Given the description of an element on the screen output the (x, y) to click on. 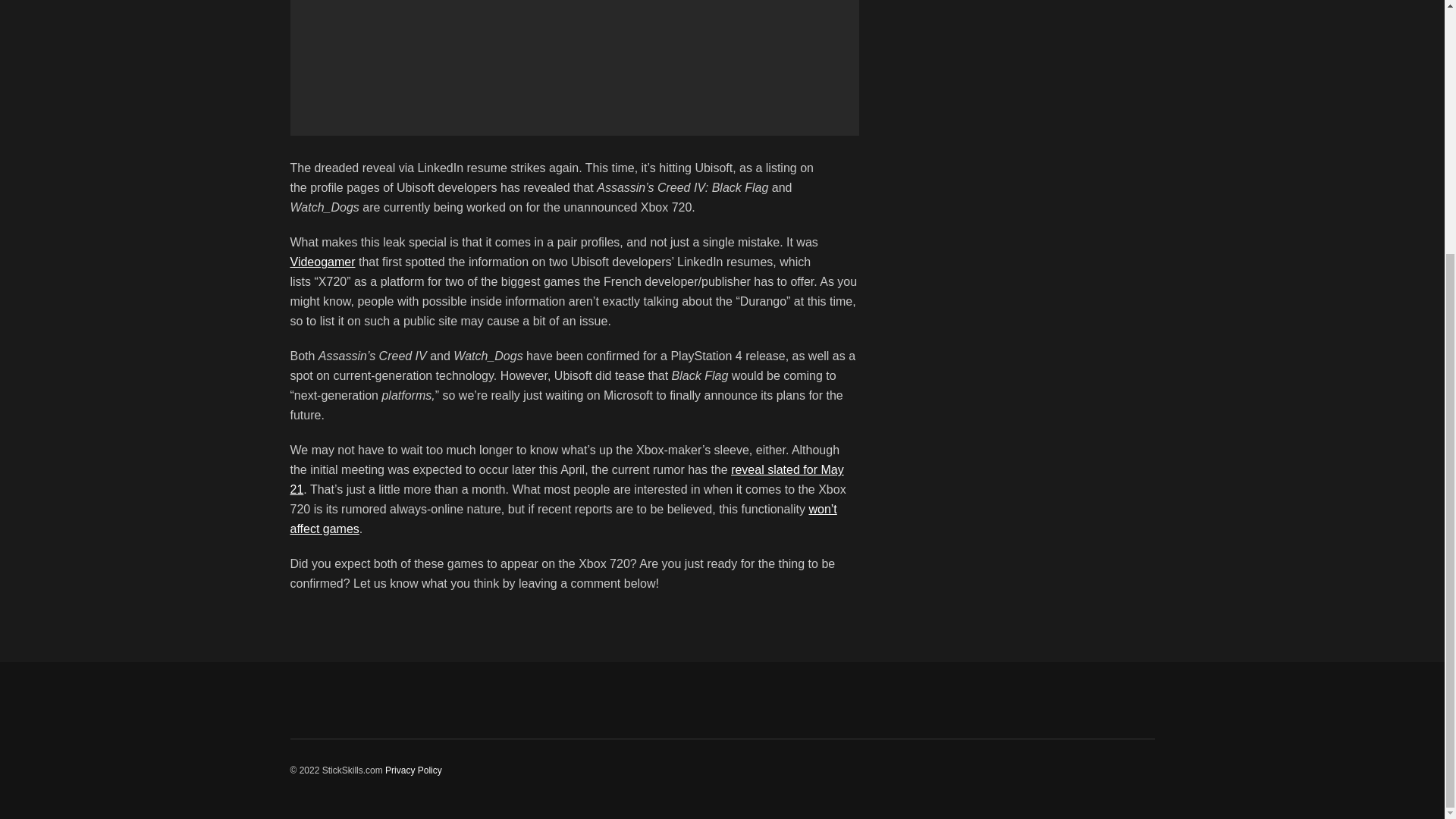
reveal slated for May 21 (566, 479)
Videogamer (322, 261)
Privacy Policy (413, 769)
